Given the description of an element on the screen output the (x, y) to click on. 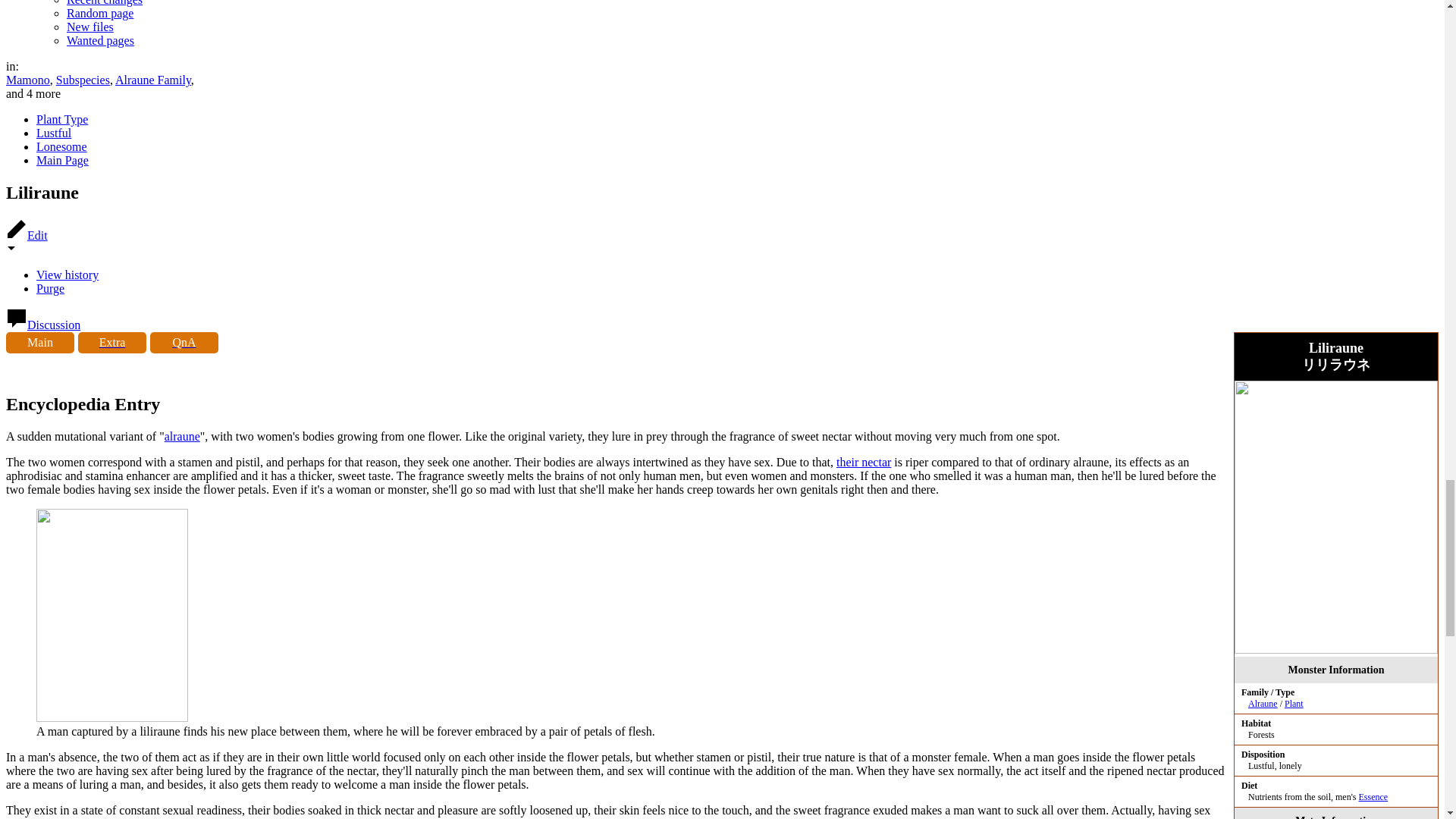
Category:Plant Type (1293, 703)
Category:Alraune Family (1262, 703)
